Given the description of an element on the screen output the (x, y) to click on. 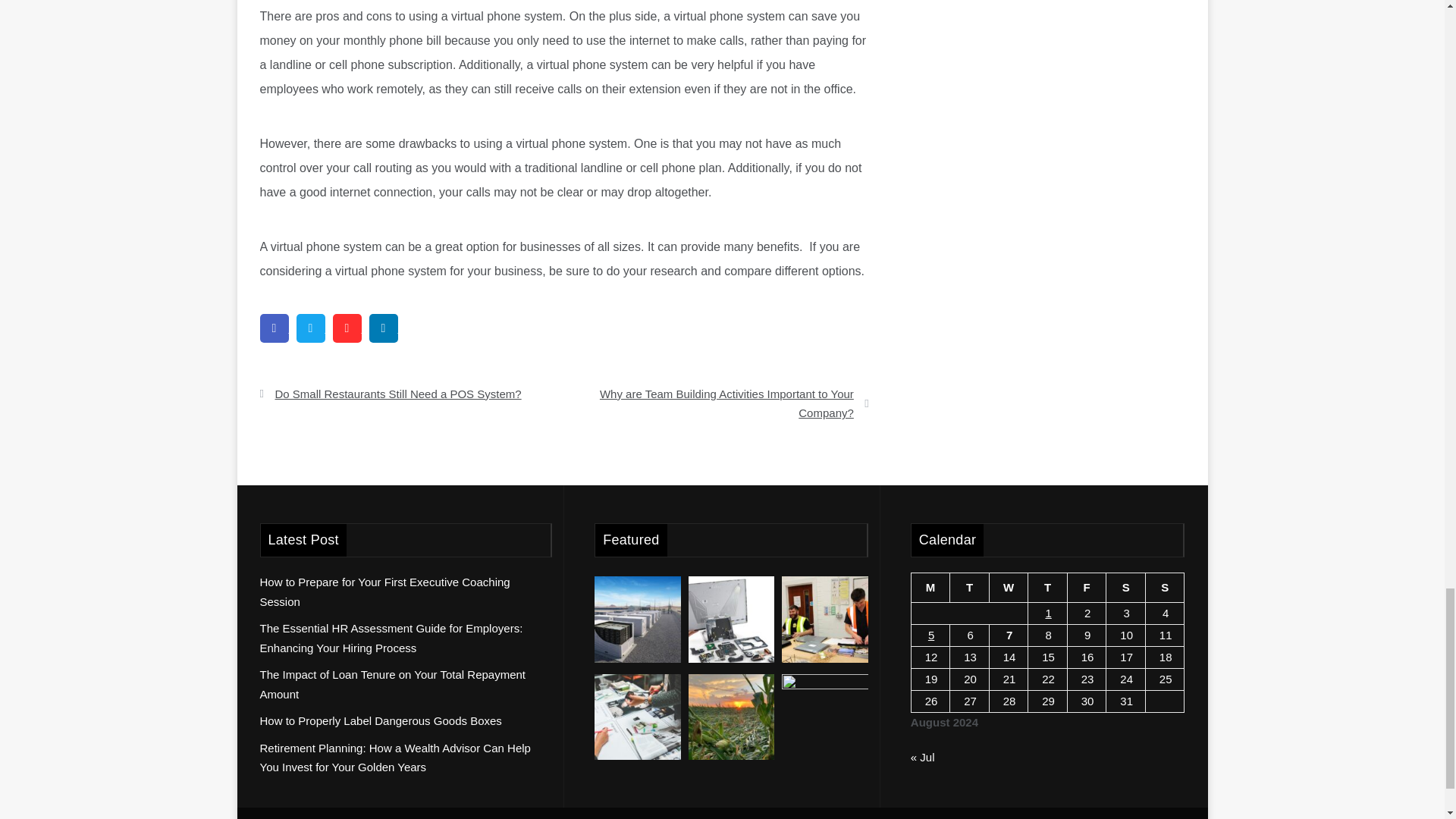
Monday (930, 587)
Tuesday (970, 587)
Thursday (1047, 587)
Friday (1086, 587)
Saturday (1125, 587)
Sunday (1164, 587)
Wednesday (1007, 587)
